Given the description of an element on the screen output the (x, y) to click on. 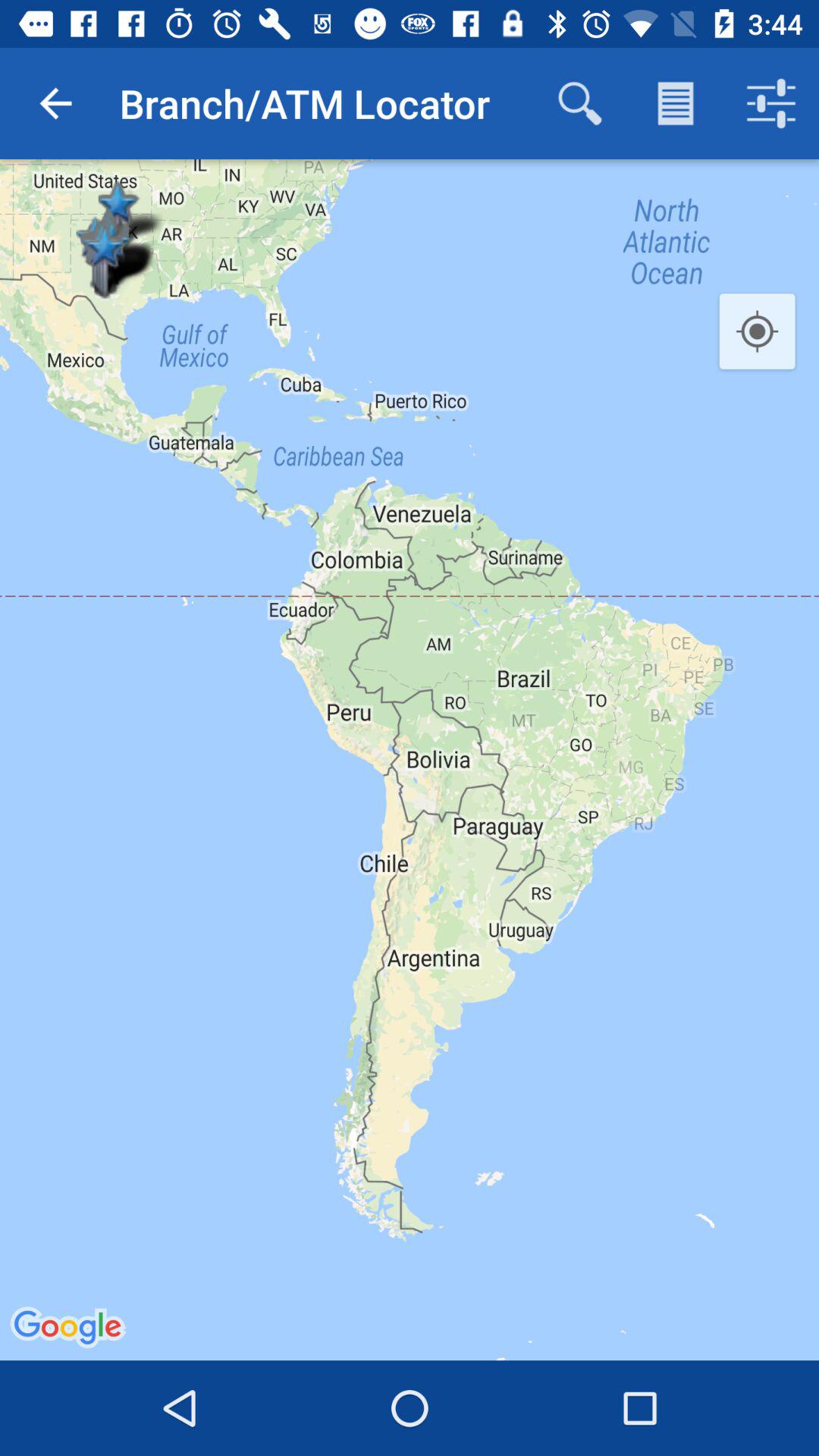
press the icon next to branch/atm locator icon (55, 103)
